Given the description of an element on the screen output the (x, y) to click on. 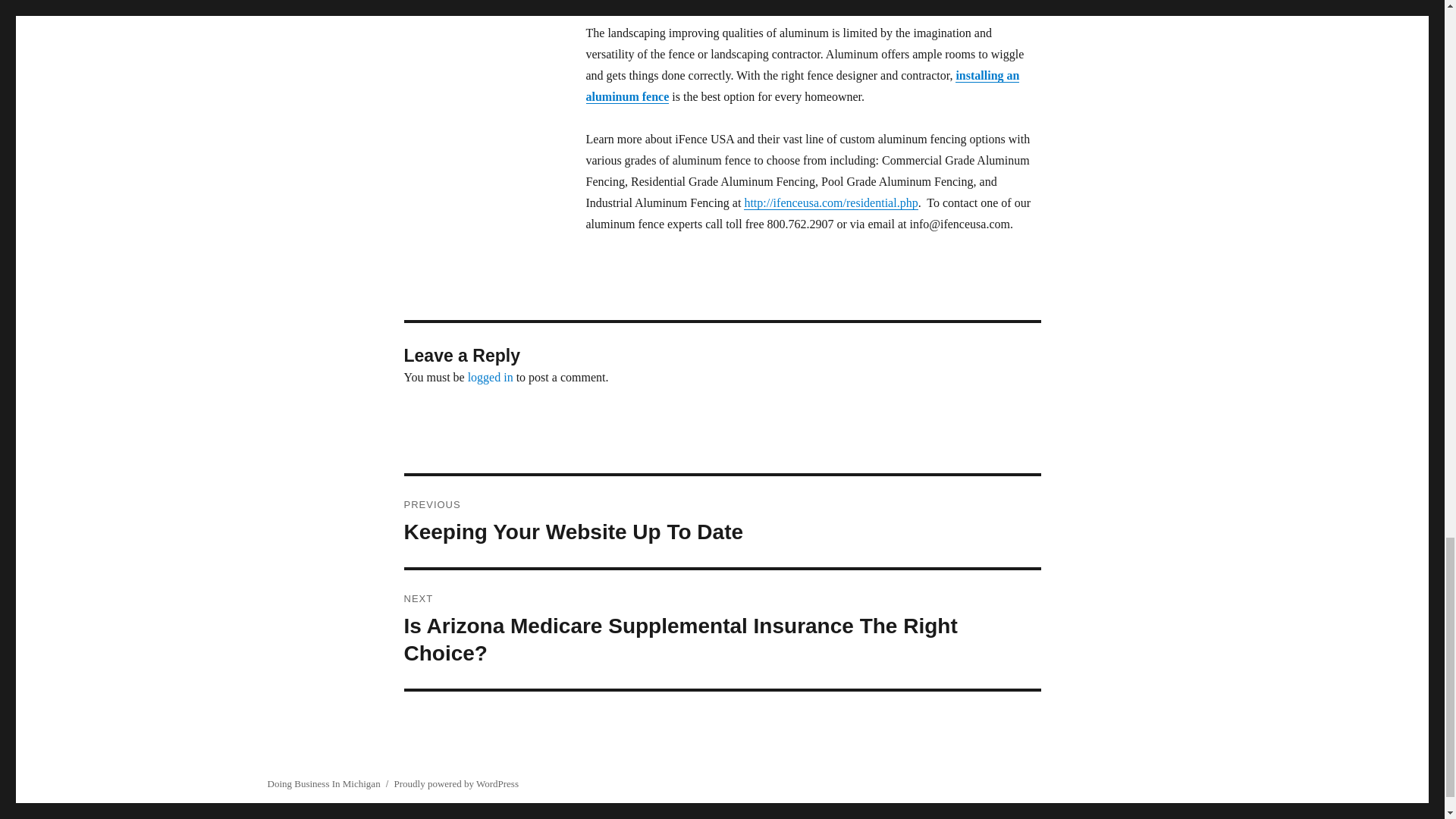
Doing Business In Michigan (323, 783)
installing an aluminum fence (802, 85)
Proudly powered by WordPress (456, 783)
logged in (722, 521)
